Given the description of an element on the screen output the (x, y) to click on. 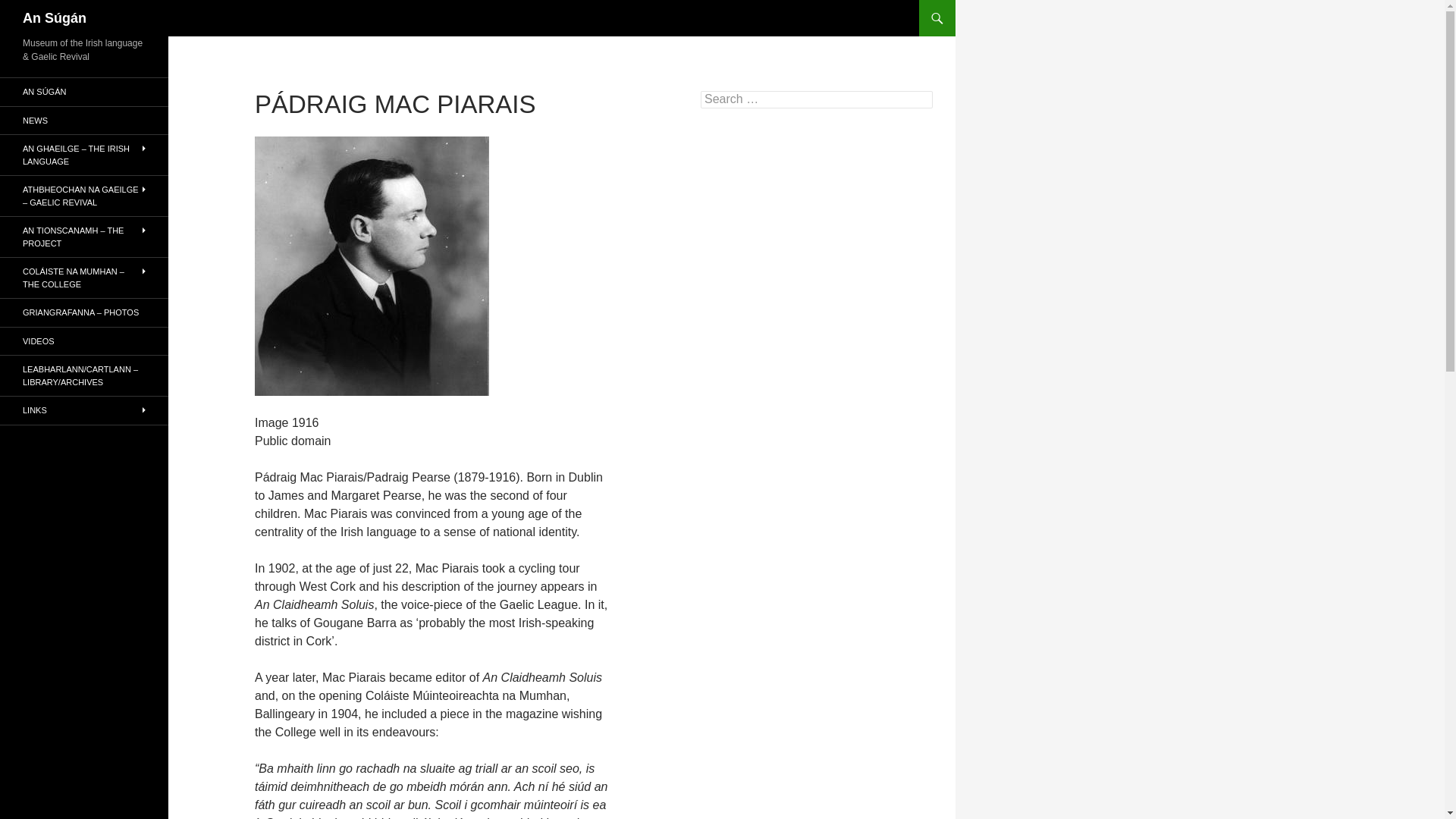
NEWS (84, 120)
LINKS (84, 410)
Search (30, 8)
VIDEOS (84, 341)
